Given the description of an element on the screen output the (x, y) to click on. 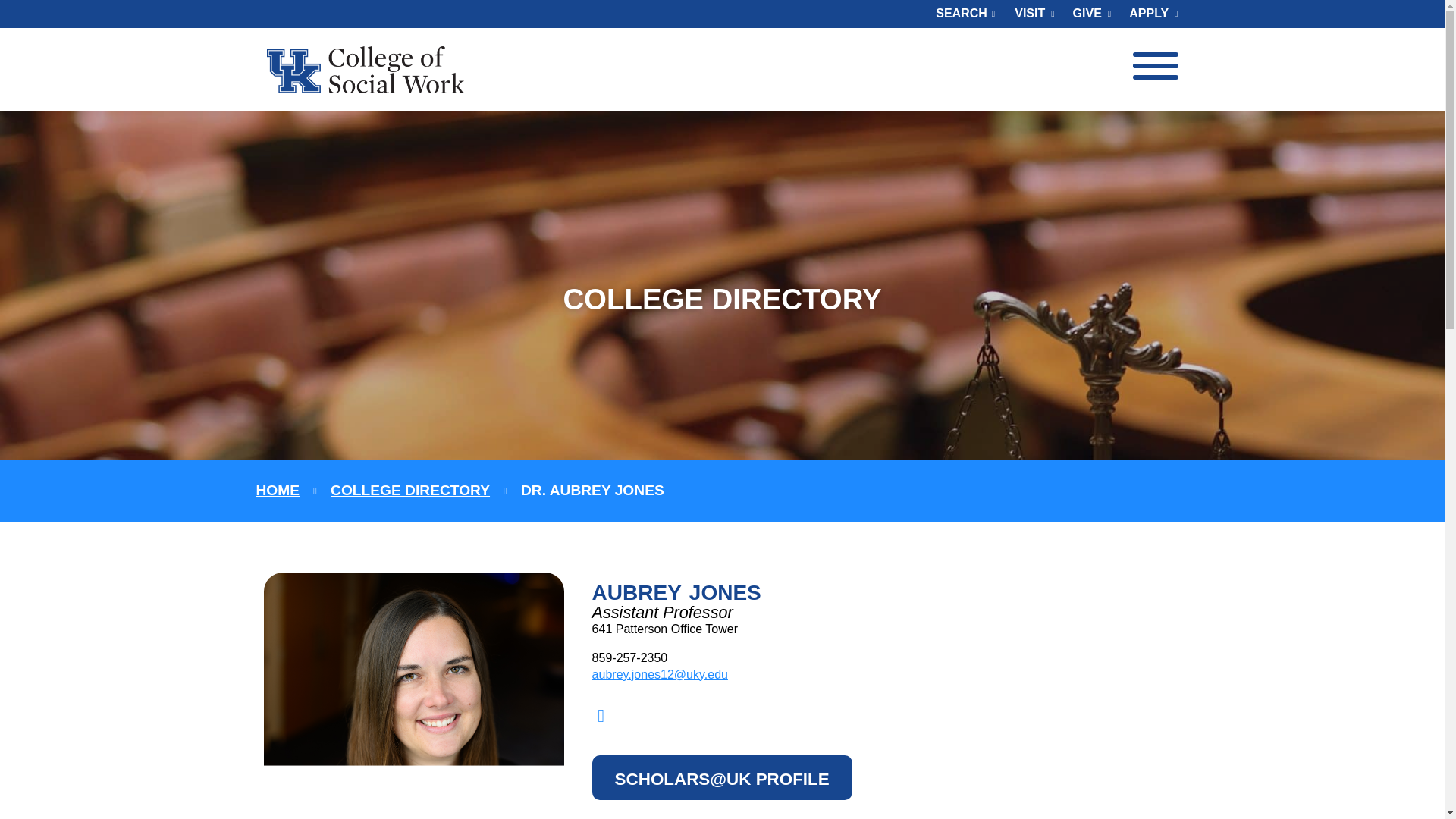
GIVE (1092, 13)
VISIT (1034, 13)
SEARCH (960, 13)
APPLY (1148, 13)
